Given the description of an element on the screen output the (x, y) to click on. 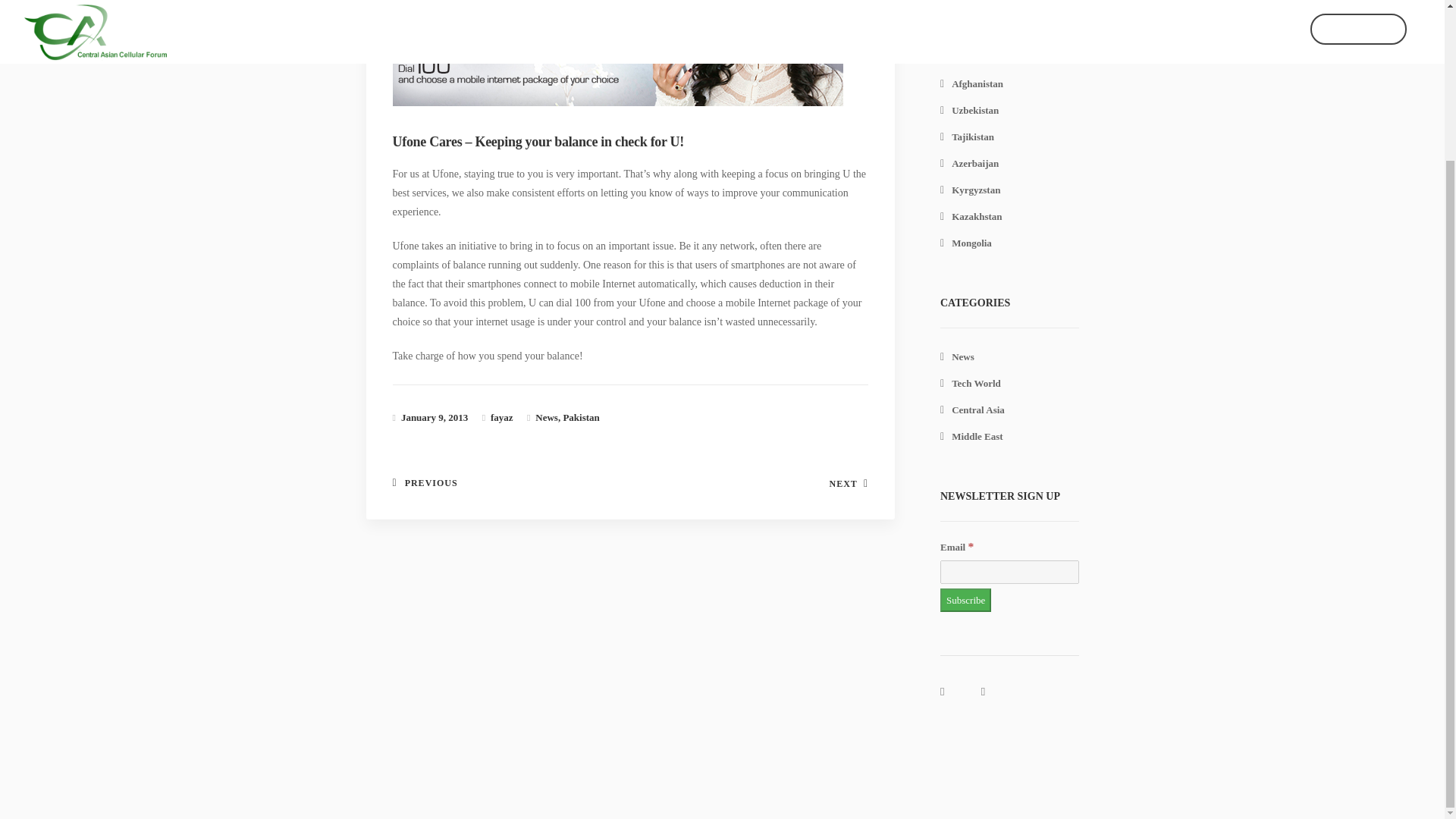
Pakistan (580, 417)
Tajikistan (967, 136)
Readmore (397, 490)
Subscribe (638, 478)
Central Asia (972, 409)
Kazakhstan (971, 215)
Mongolia (965, 242)
Pakistan (964, 57)
Afghanistan (971, 83)
News (546, 417)
